Given the description of an element on the screen output the (x, y) to click on. 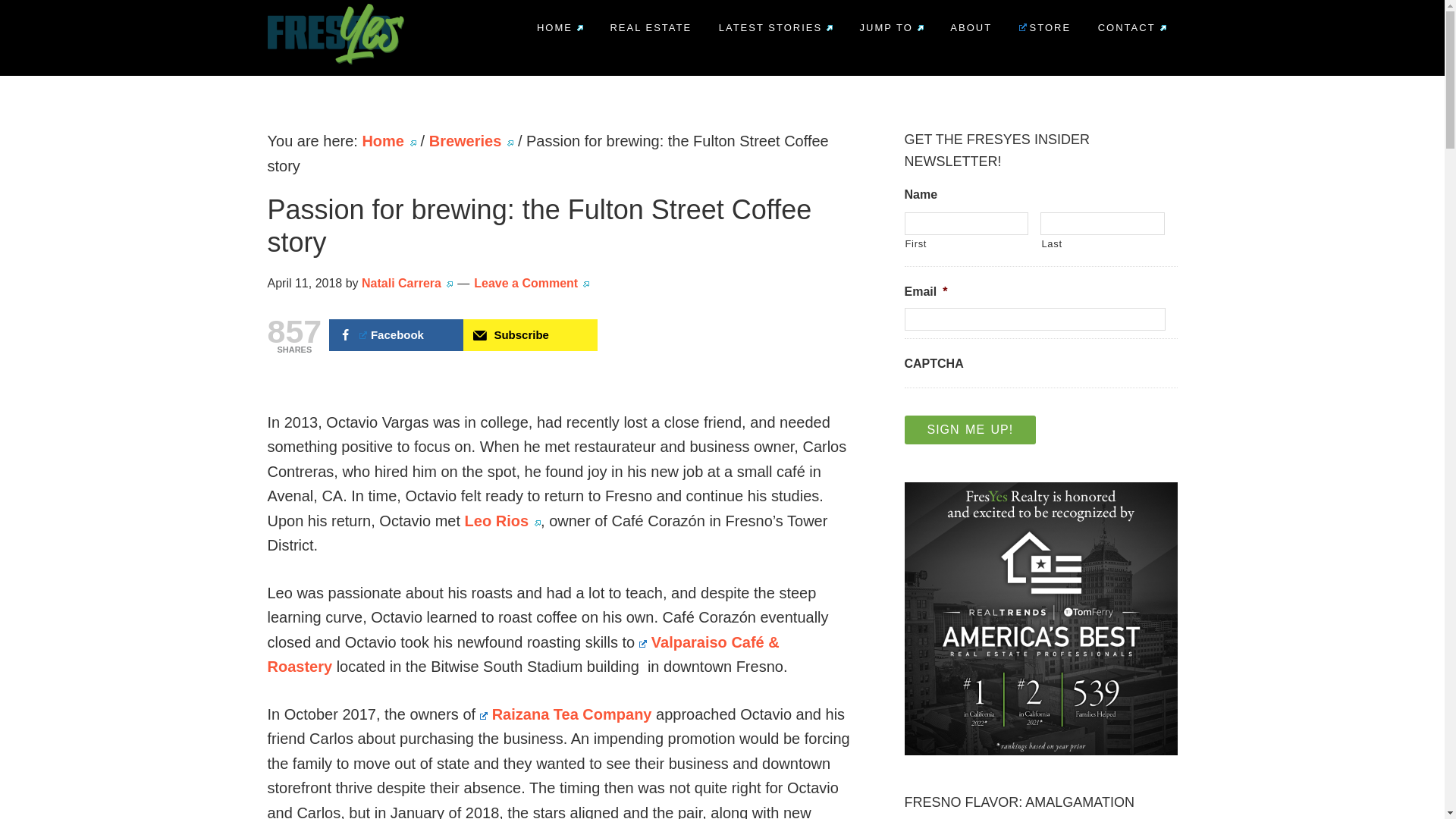
Sign Me Up! (969, 429)
JUMP TO (891, 27)
REAL ESTATE (650, 27)
HOME (559, 27)
FresYes! (304, 89)
LATEST STORIES (775, 27)
